Given the description of an element on the screen output the (x, y) to click on. 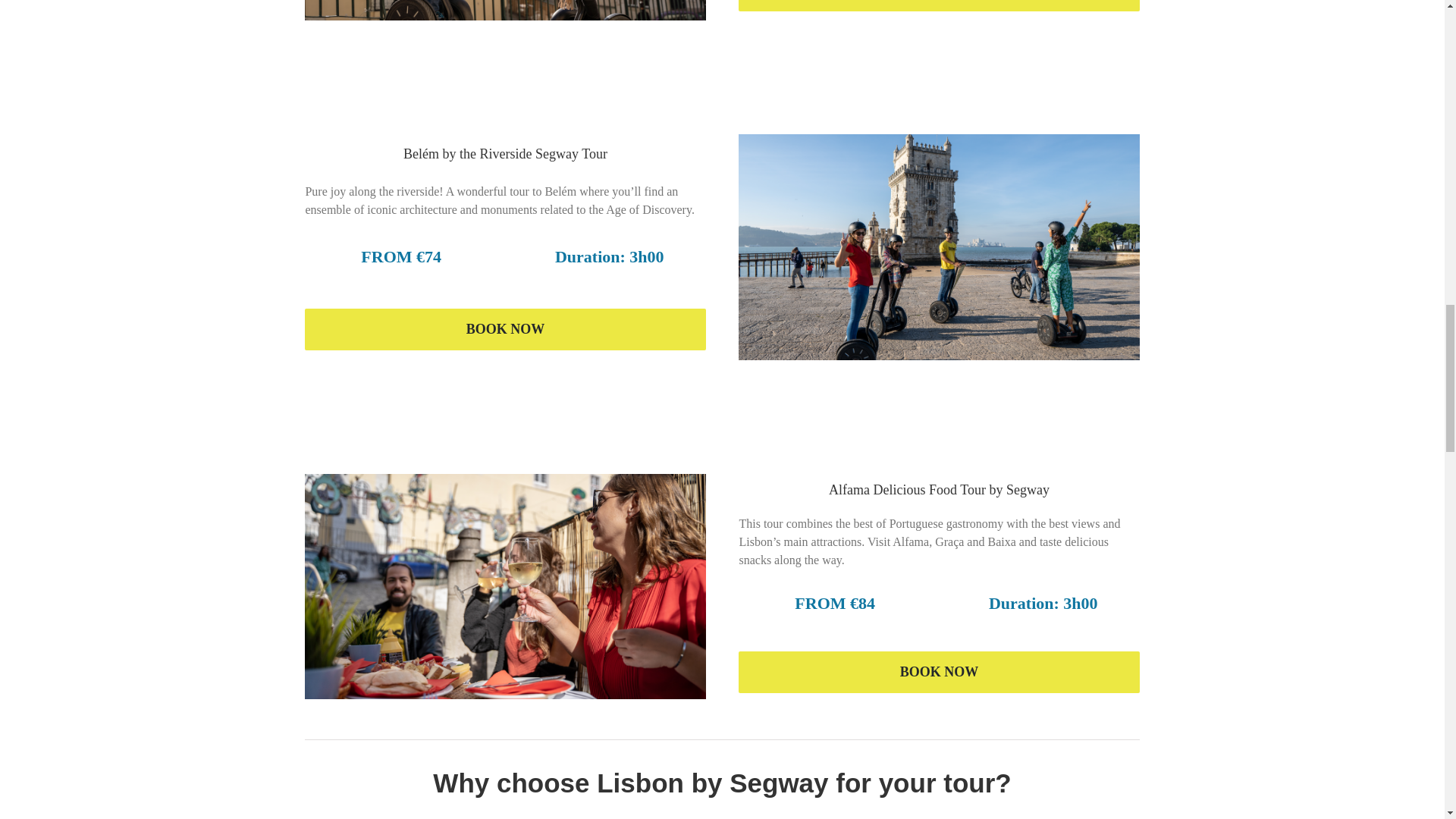
food-tour-alfama-by-segway (504, 586)
BOOK NOW (938, 671)
BOOK NOW (938, 5)
segway-tour-stop-for-pictures (504, 10)
segway-tour-belem-tower (938, 246)
BOOK NOW (504, 329)
